Given the description of an element on the screen output the (x, y) to click on. 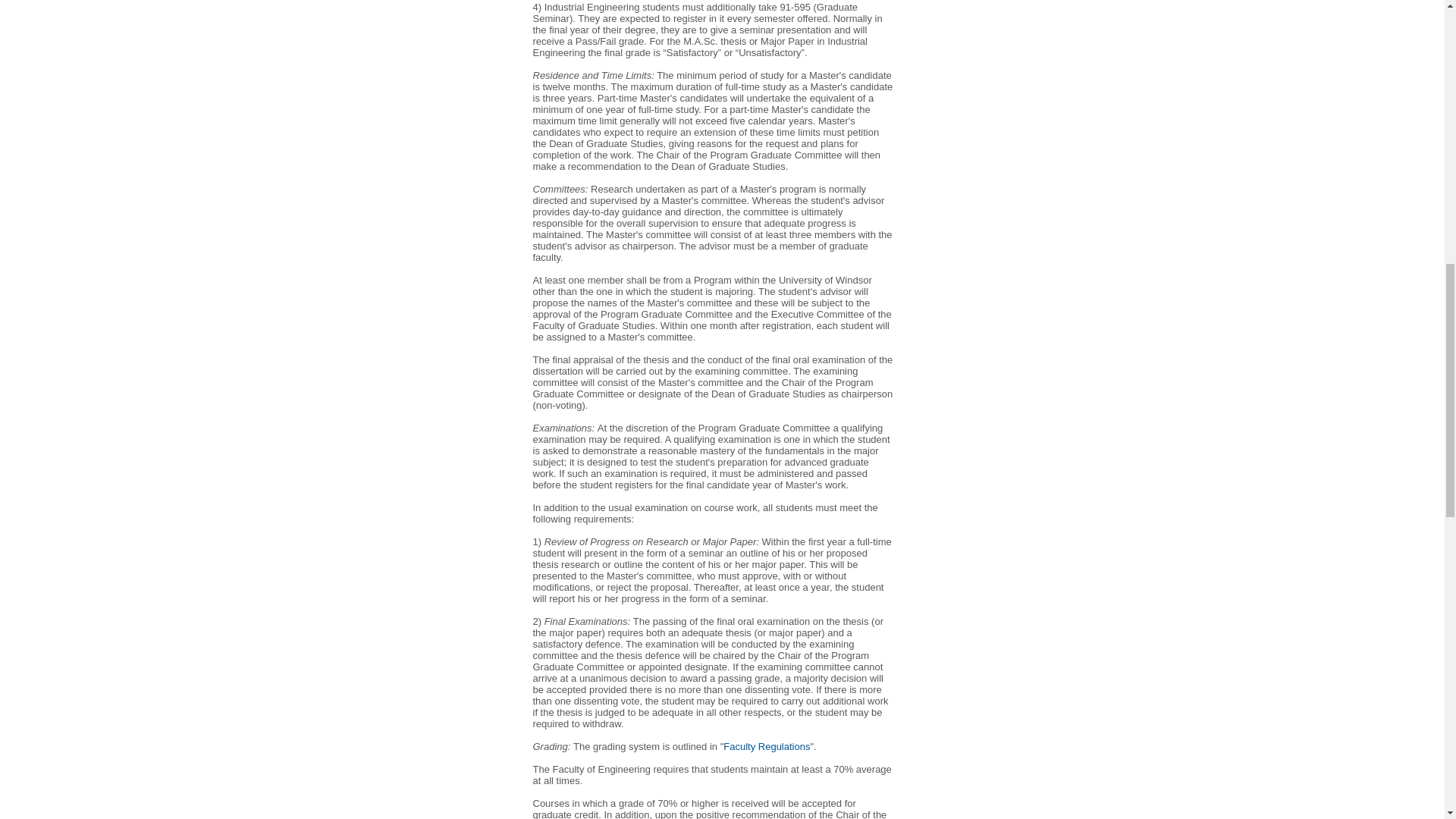
Faculty Regulations (766, 746)
